Given the description of an element on the screen output the (x, y) to click on. 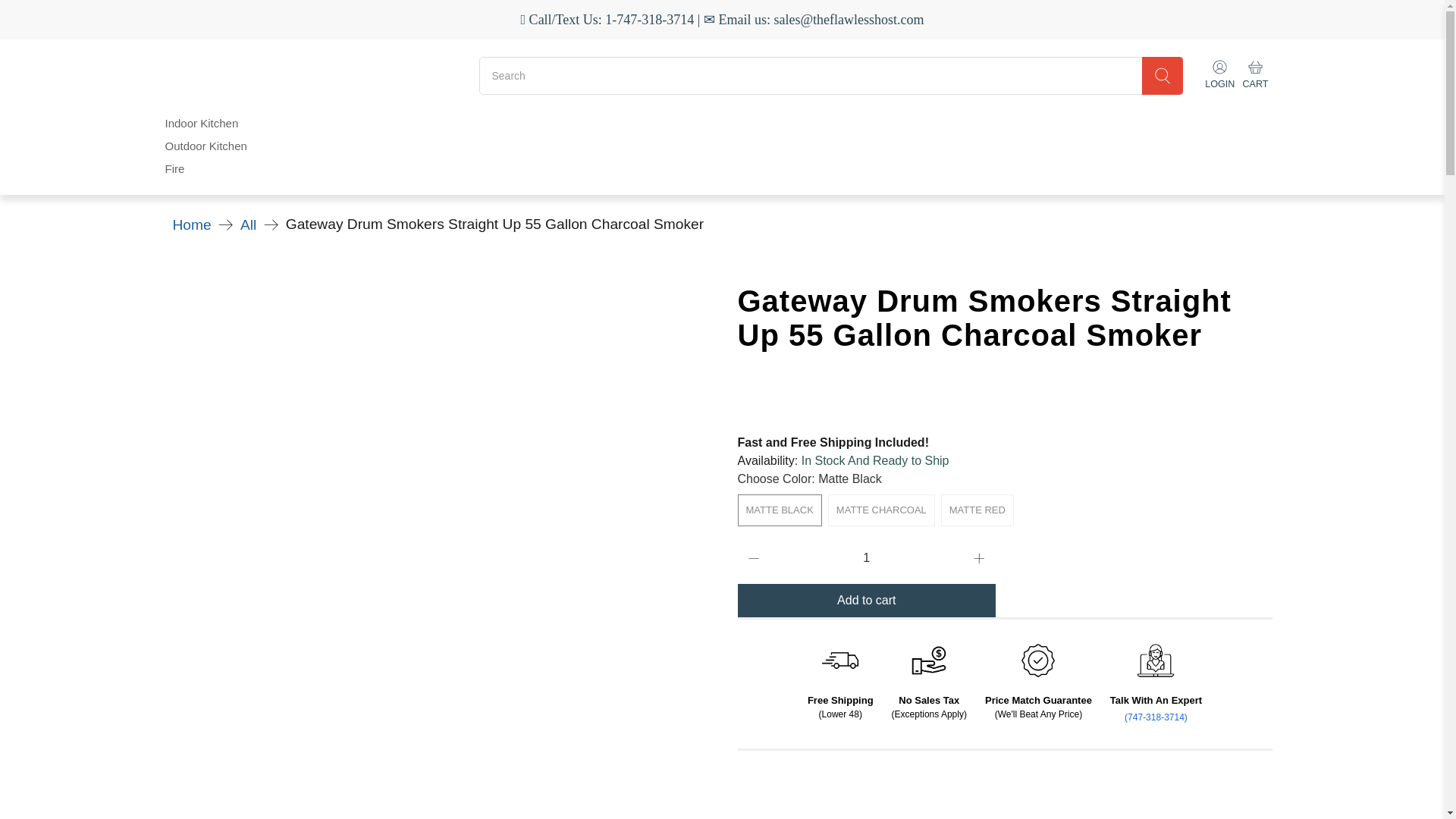
Outdoor Kitchen (206, 145)
tel:17473183714 (1156, 716)
Home (192, 224)
1 (866, 557)
The Flawless Host (192, 224)
The Flawless Host (317, 75)
All (248, 224)
Indoor Kitchen (201, 122)
